Given the description of an element on the screen output the (x, y) to click on. 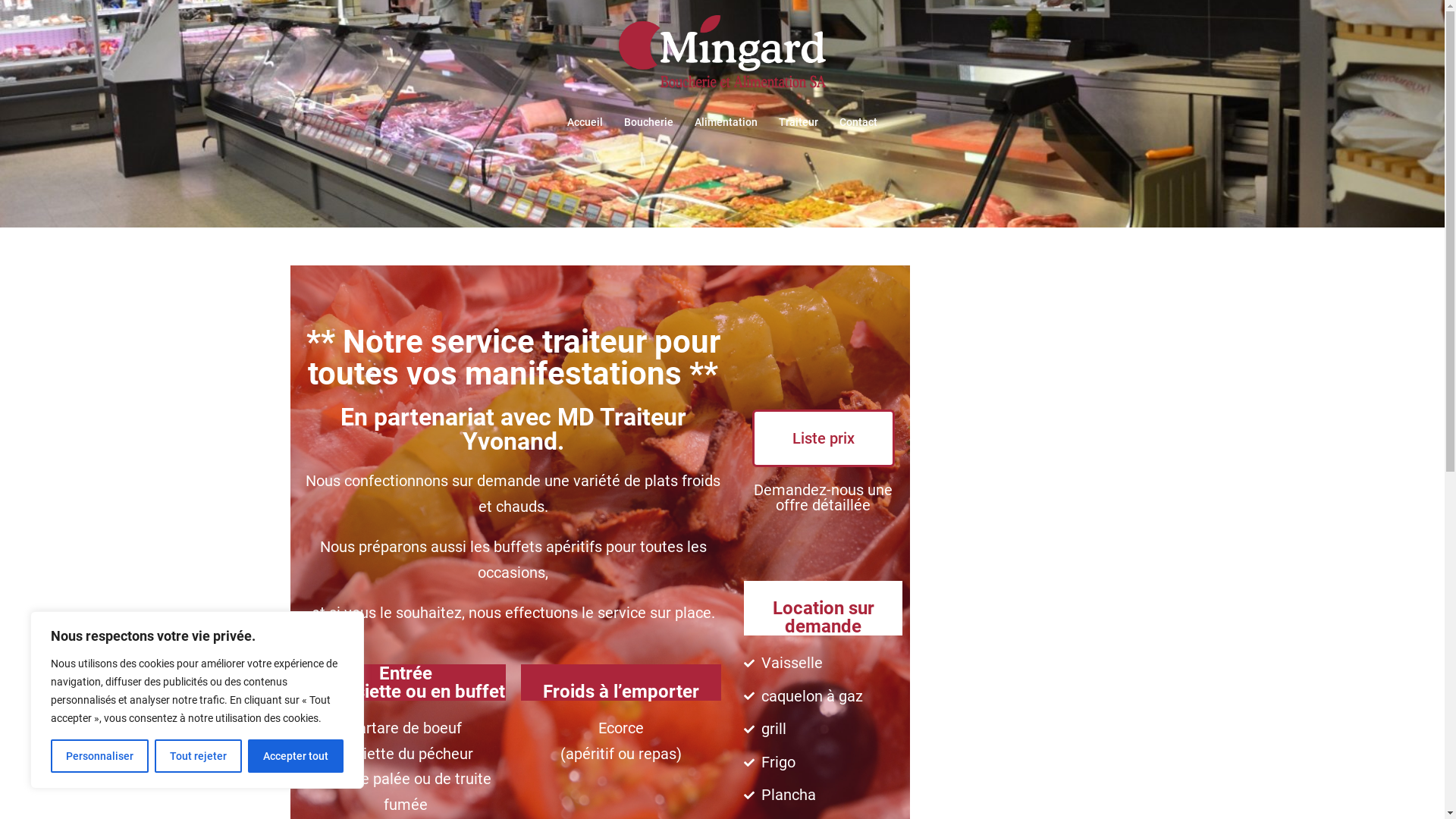
Accepter tout Element type: text (295, 755)
Tout rejeter Element type: text (197, 755)
Boucherie Element type: text (648, 122)
Personnaliser Element type: text (99, 755)
Boucherie Mingard Yvonand Element type: hover (721, 57)
Contact Element type: text (858, 122)
Alimentation Element type: text (725, 122)
Traiteur Element type: text (798, 122)
Accueil Element type: text (584, 122)
Liste prix Element type: text (823, 438)
